Given the description of an element on the screen output the (x, y) to click on. 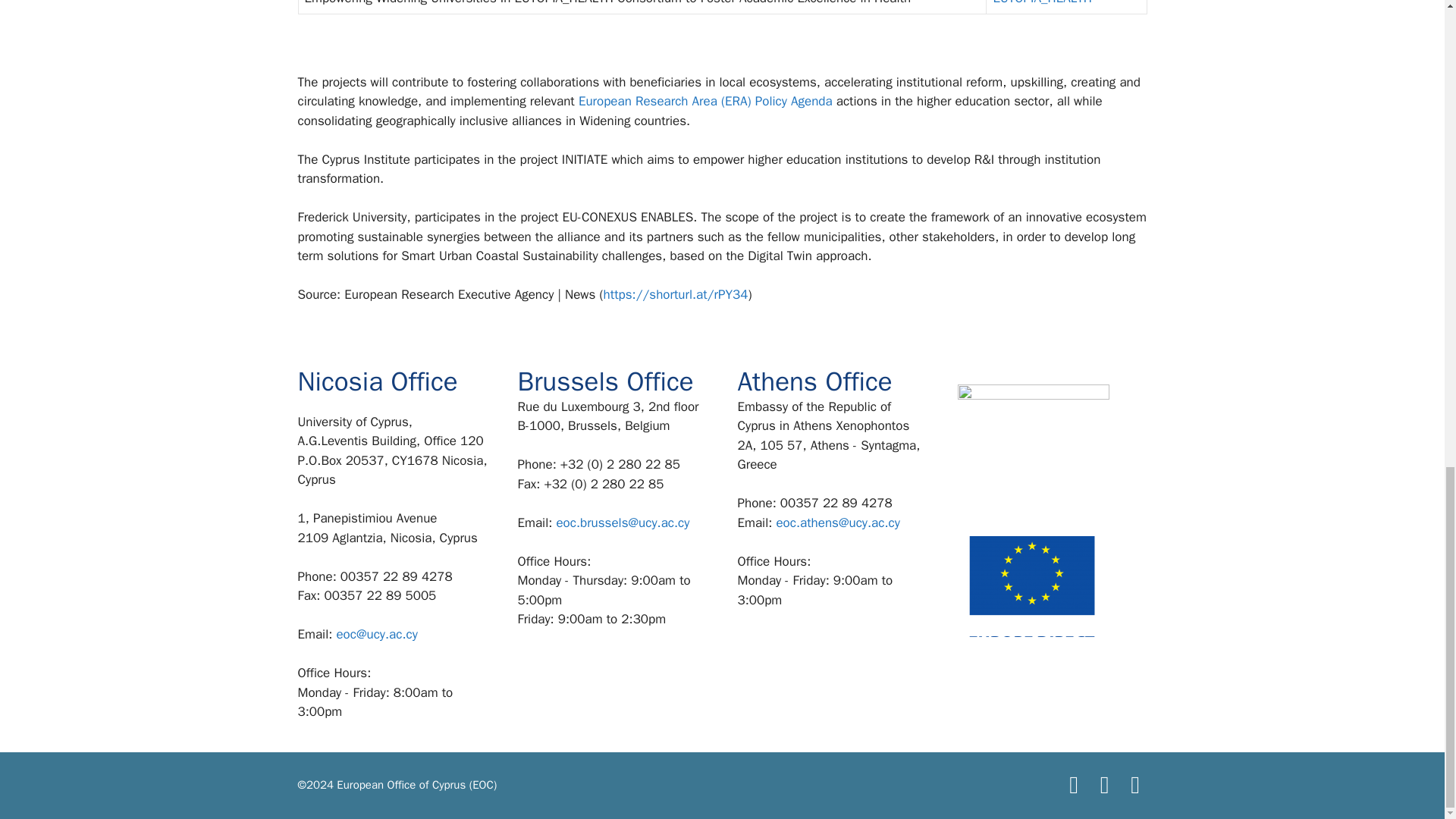
een 200x200 transp (1032, 460)
Scroll back to top (1406, 440)
